Given the description of an element on the screen output the (x, y) to click on. 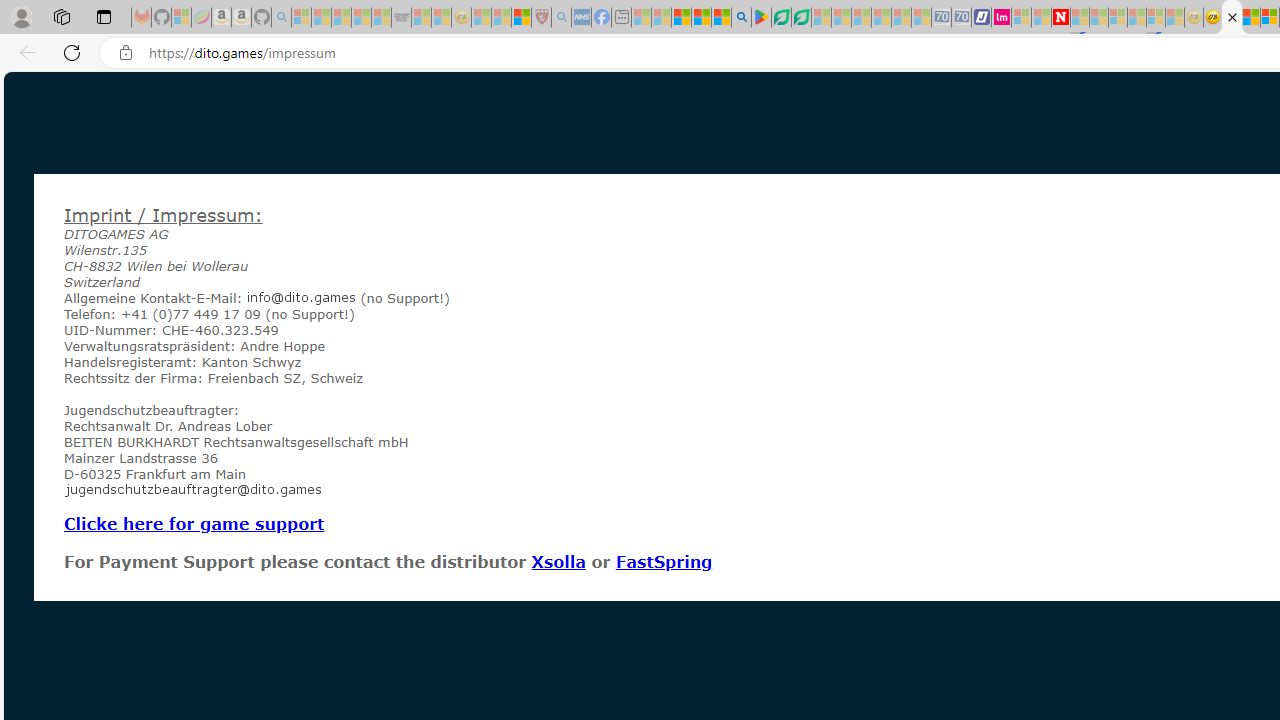
Local - MSN (521, 17)
New Report Confirms 2023 Was Record Hot | Watch - Sleeping (381, 17)
Bluey: Let's Play! - Apps on Google Play (760, 17)
Microsoft account | Privacy - Sleeping (1021, 17)
14 Common Myths Debunked By Scientific Facts - Sleeping (1099, 17)
Trusted Community Engagement and Contributions | Guidelines (1080, 17)
